Given the description of an element on the screen output the (x, y) to click on. 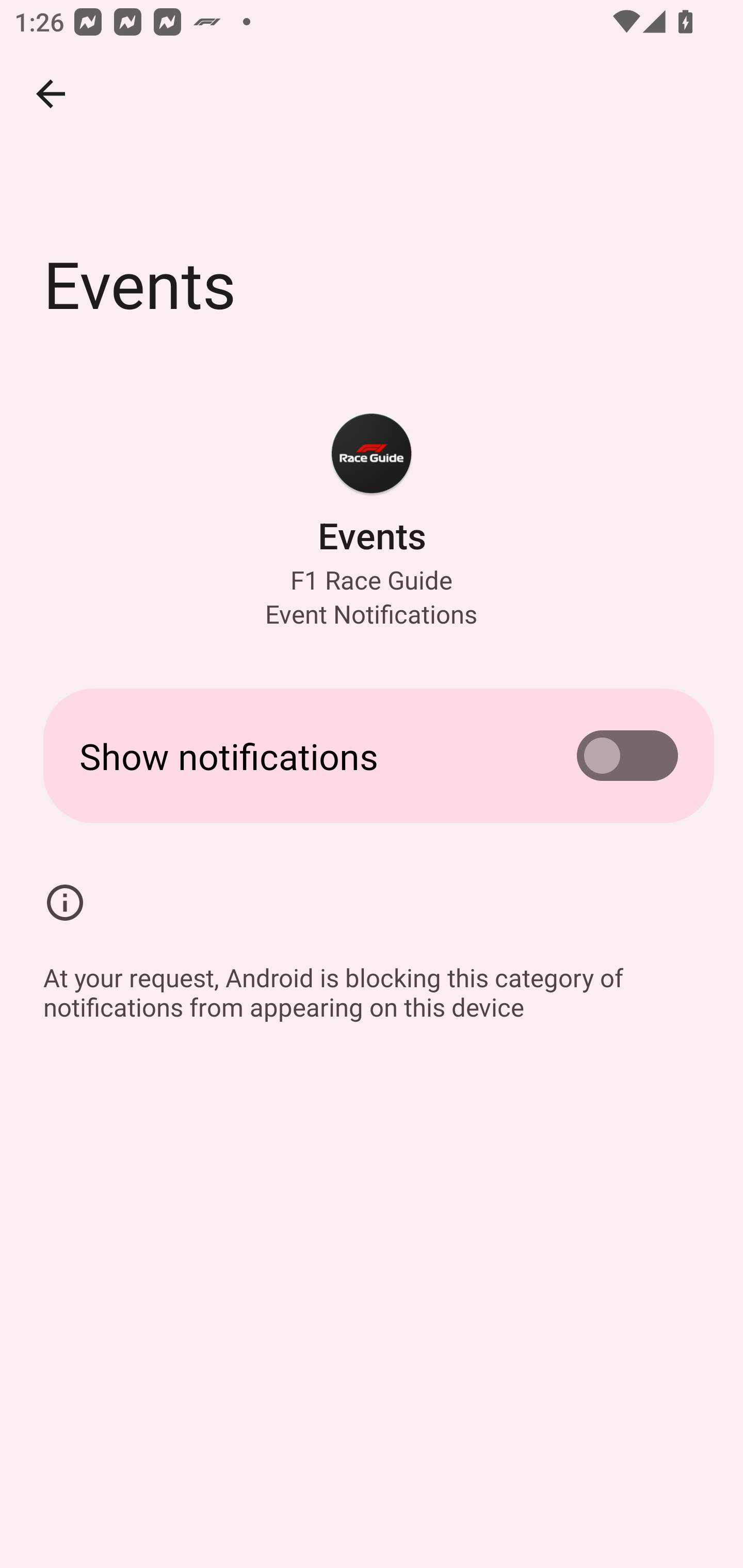
Navigate up (50, 93)
Events F1 Race Guide Event Notifications (371, 520)
Show notifications (371, 755)
